Given the description of an element on the screen output the (x, y) to click on. 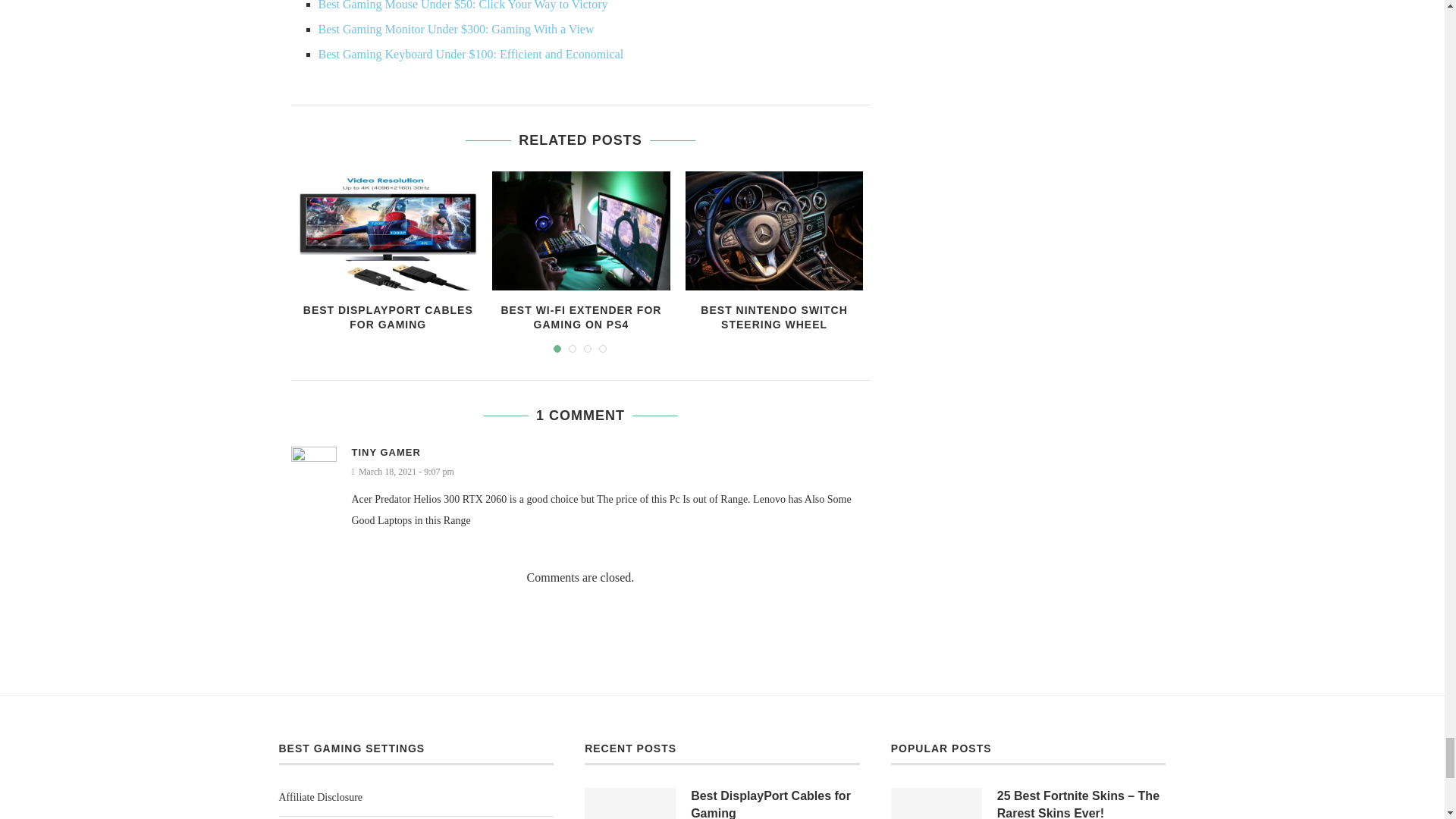
Best Nintendo Switch Steering Wheel (774, 230)
Best Wi-Fi Extender for Gaming on PS4 (580, 230)
Best DisplayPort Cables for Gaming (387, 230)
